Given the description of an element on the screen output the (x, y) to click on. 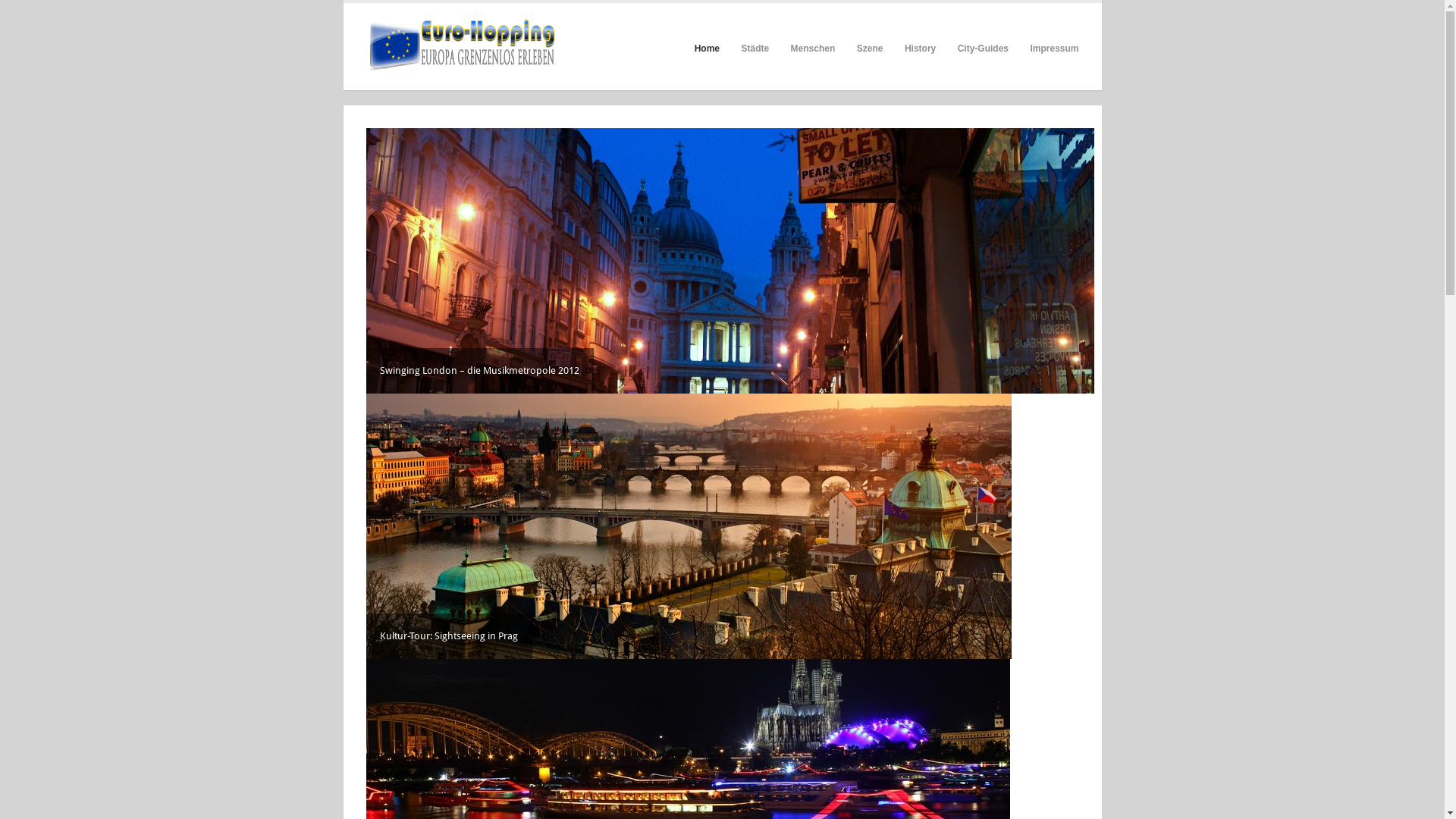
Euro-Hopping Element type: hover (459, 46)
Swinging London - die Musikmetropole 2012 Element type: hover (729, 260)
Szene Element type: text (869, 47)
City-Guides Element type: text (982, 47)
Kultur-Tour: Sightseeing in Prag Element type: hover (687, 525)
History Element type: text (919, 47)
Home Element type: text (706, 47)
Menschen Element type: text (812, 47)
Impressum Element type: text (1053, 47)
